Given the description of an element on the screen output the (x, y) to click on. 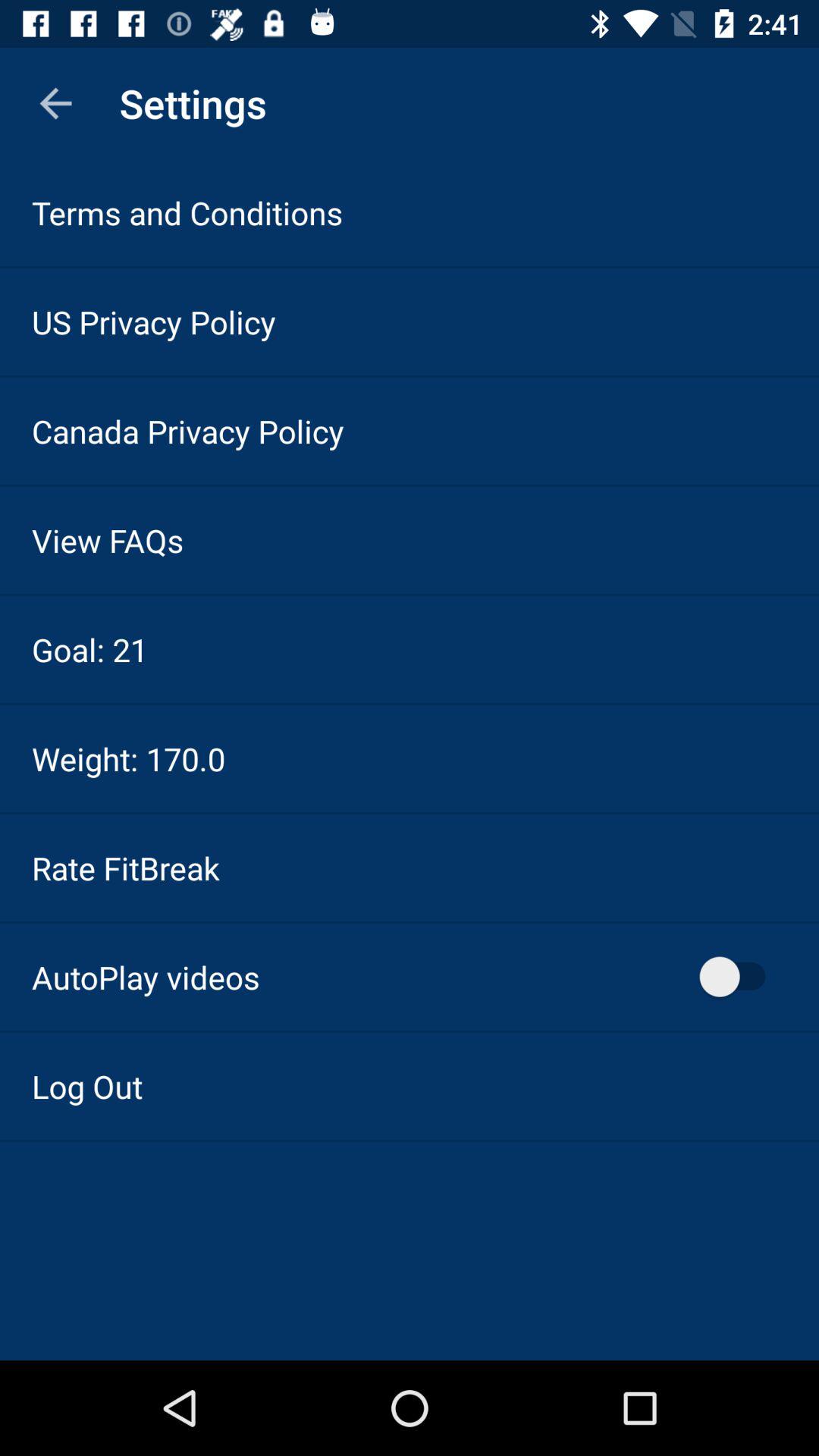
press the item below view faqs item (89, 649)
